Given the description of an element on the screen output the (x, y) to click on. 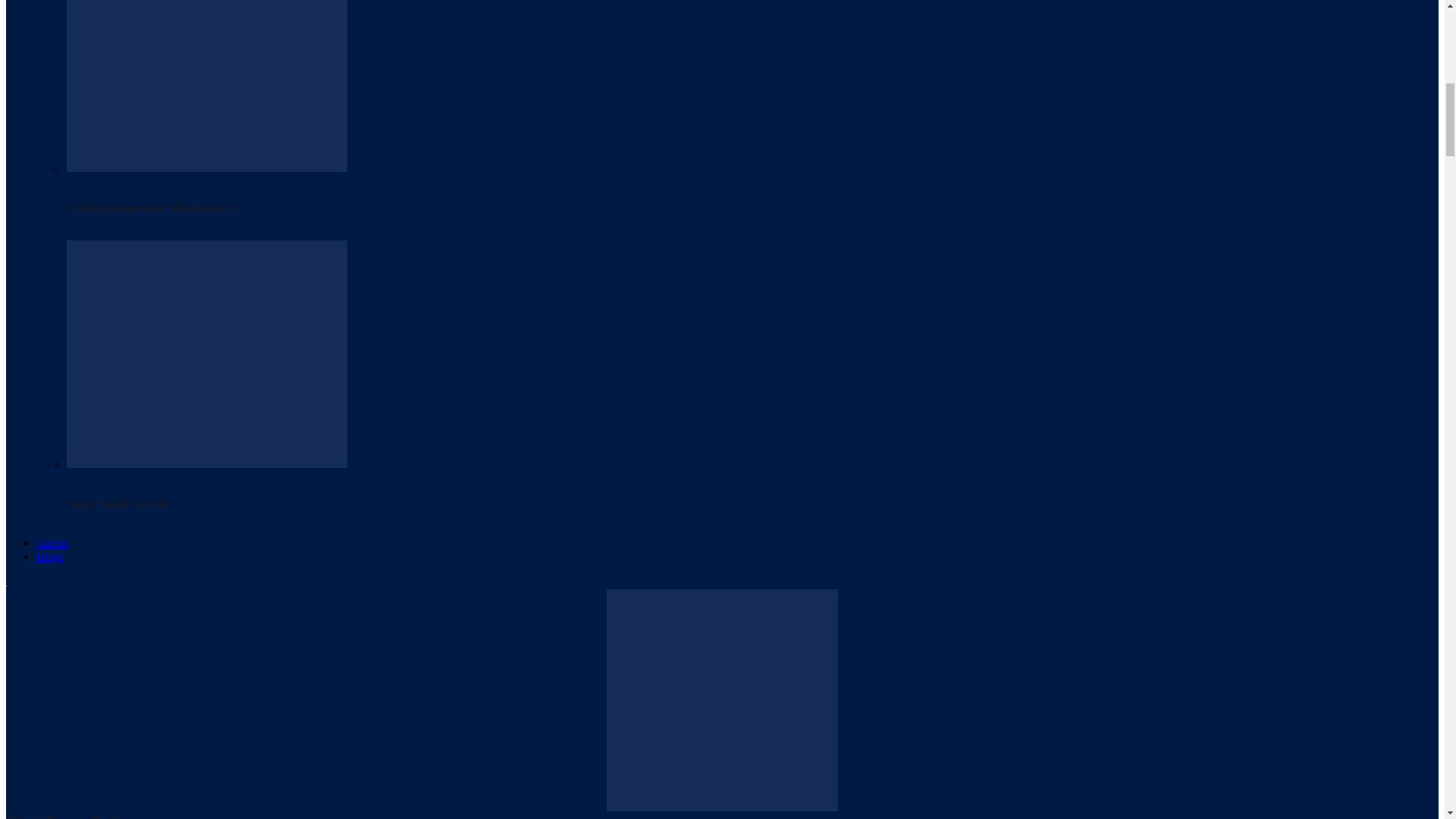
Blogs (49, 556)
Games (52, 542)
